Given the description of an element on the screen output the (x, y) to click on. 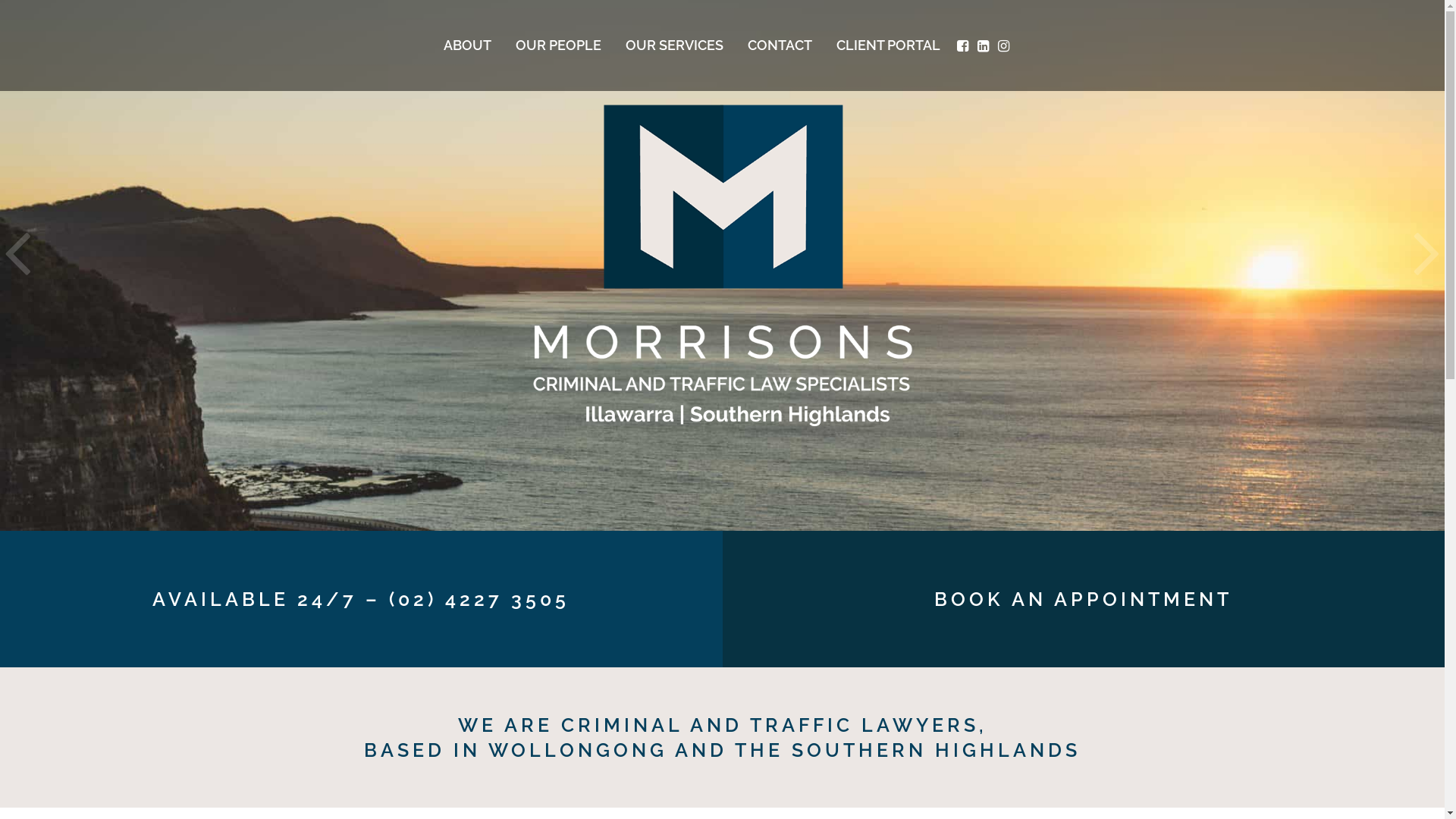
ABOUT Element type: text (466, 45)
CLIENT PORTAL Element type: text (887, 45)
BOOK AN APPOINTMENT Element type: text (1082, 598)
OUR SERVICES Element type: text (673, 45)
OUR PEOPLE Element type: text (558, 45)
CONTACT Element type: text (779, 45)
